Given the description of an element on the screen output the (x, y) to click on. 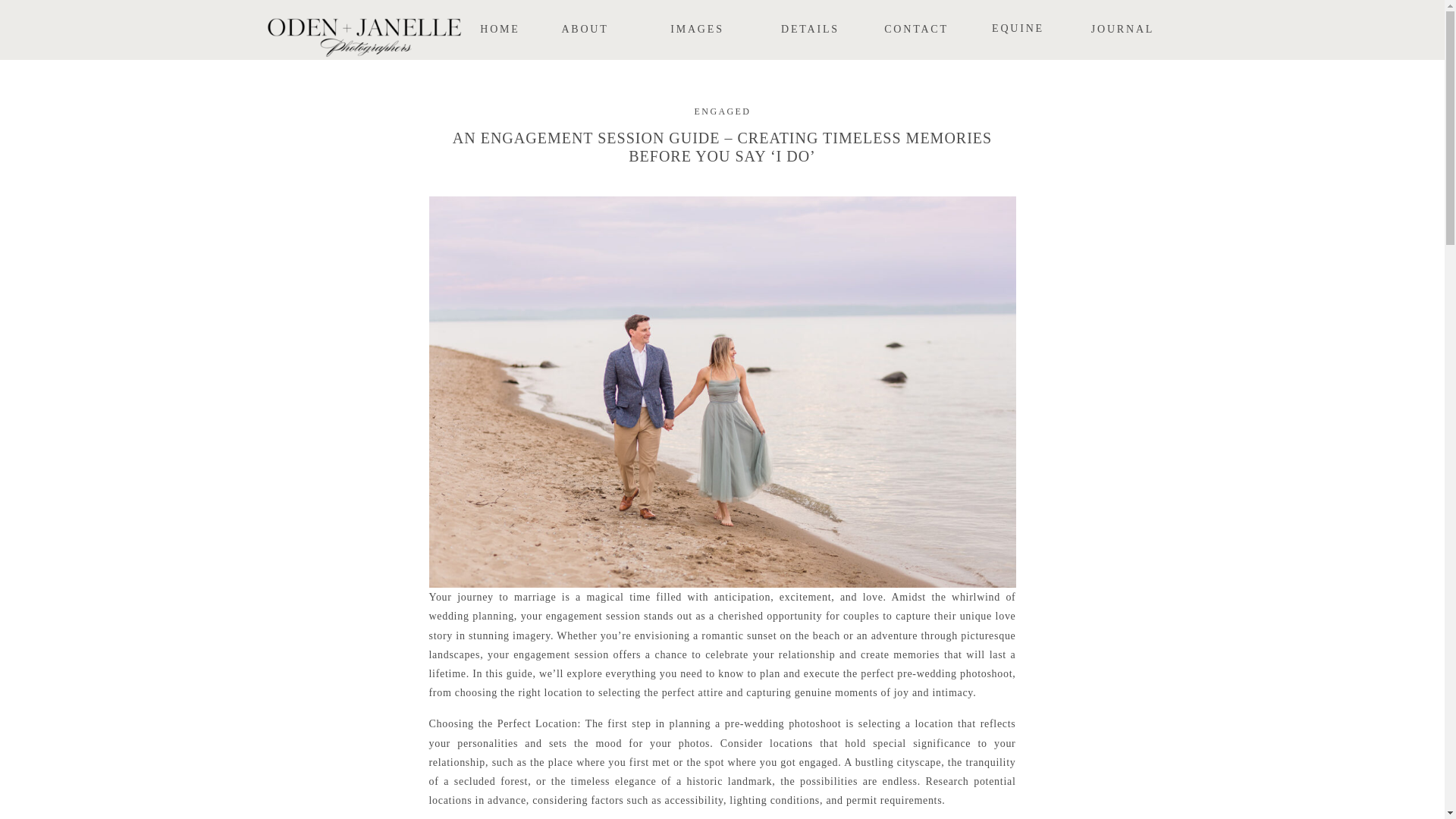
ABOUT (584, 30)
ENGAGED (722, 111)
CONTACT (915, 30)
EQUINE (1017, 29)
DETAILS (809, 30)
JOURNAL (1122, 30)
HOME (499, 30)
IMAGES (697, 30)
